Given the description of an element on the screen output the (x, y) to click on. 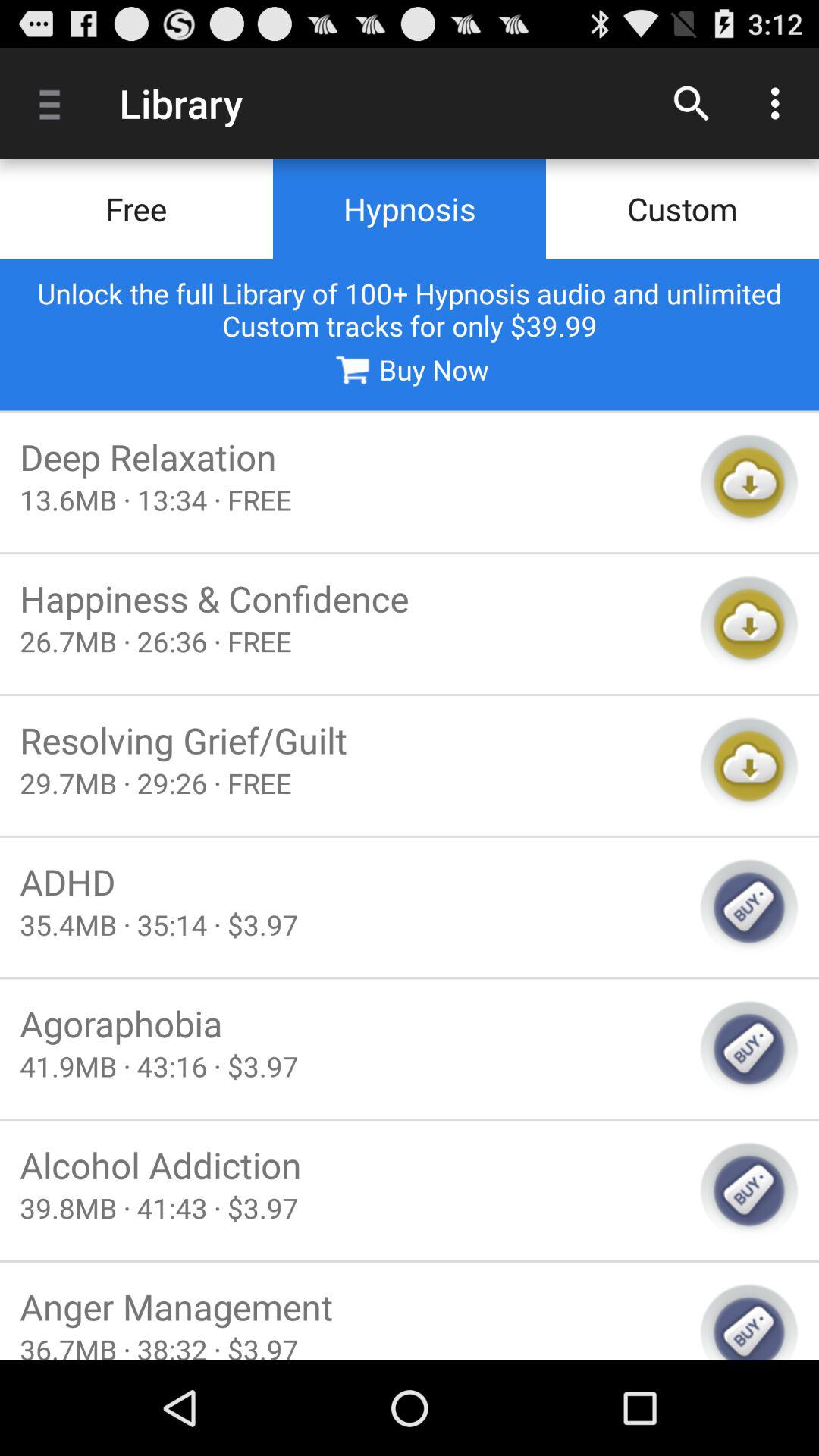
choose the adhd item (349, 881)
